Given the description of an element on the screen output the (x, y) to click on. 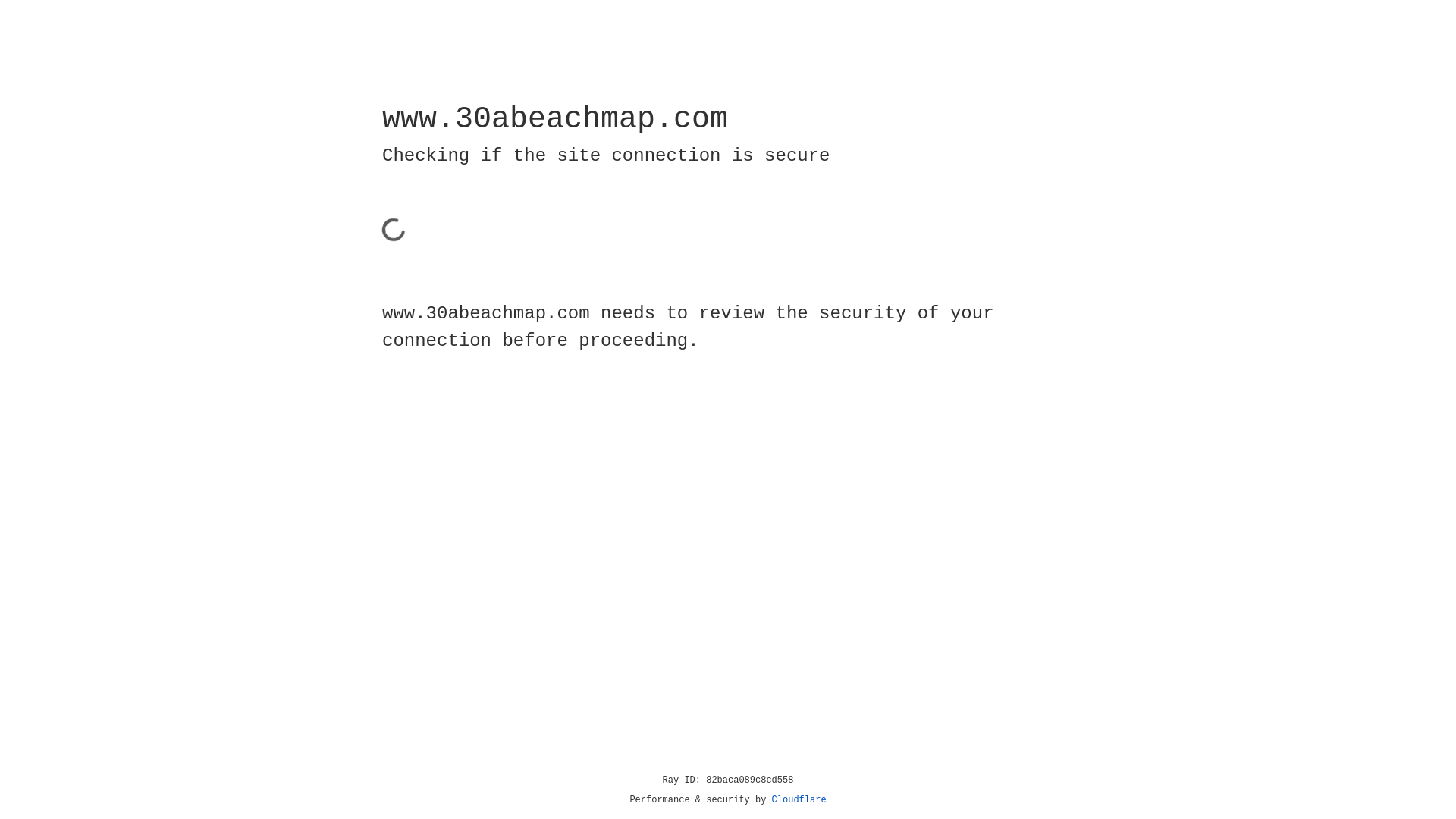
Cloudflare Element type: text (798, 799)
